Given the description of an element on the screen output the (x, y) to click on. 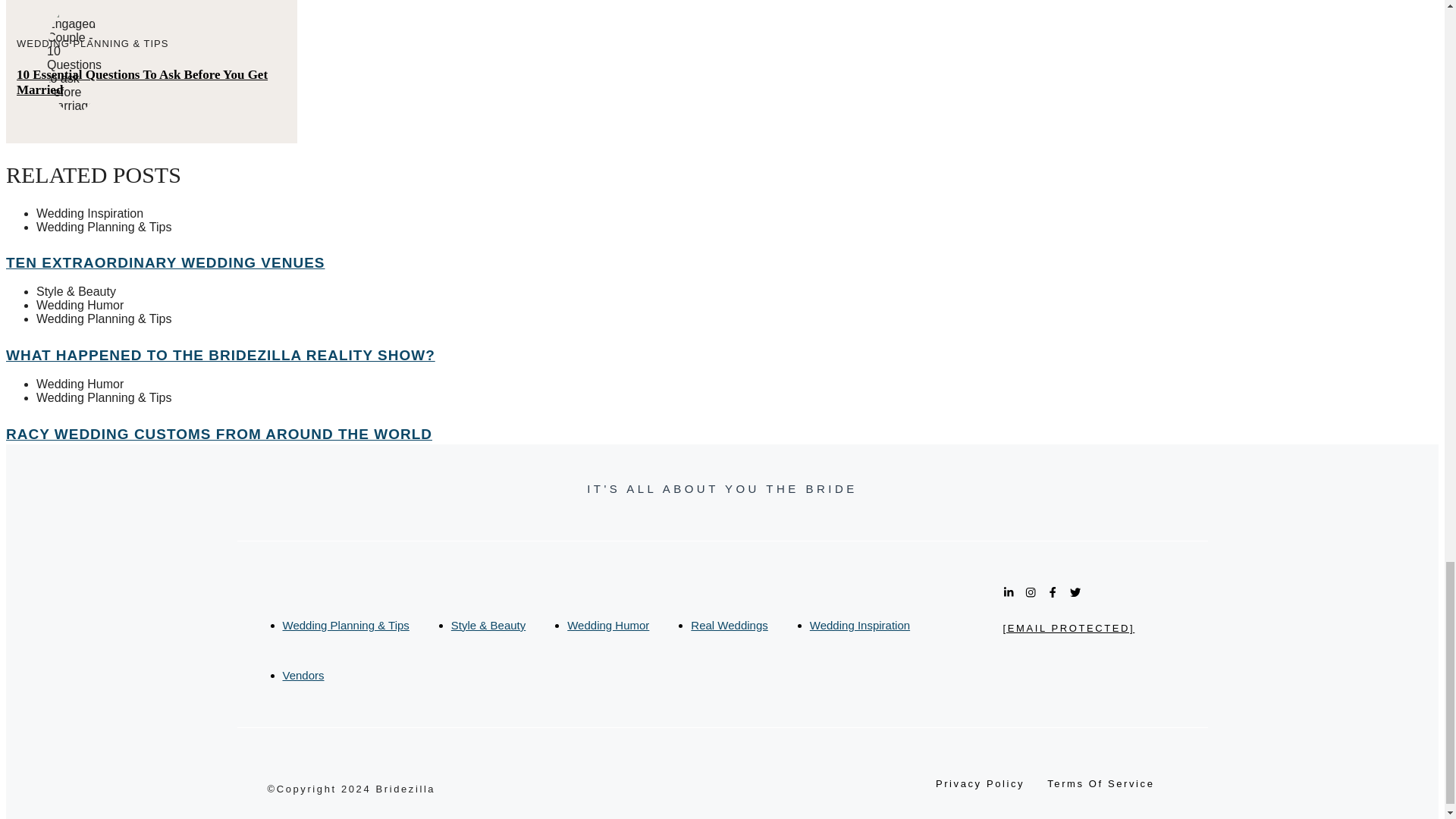
TEN EXTRAORDINARY WEDDING VENUES (164, 262)
10 Essential Questions To Ask Before You Get Married (141, 82)
WHAT HAPPENED TO THE BRIDEZILLA REALITY SHOW? (220, 355)
